Given the description of an element on the screen output the (x, y) to click on. 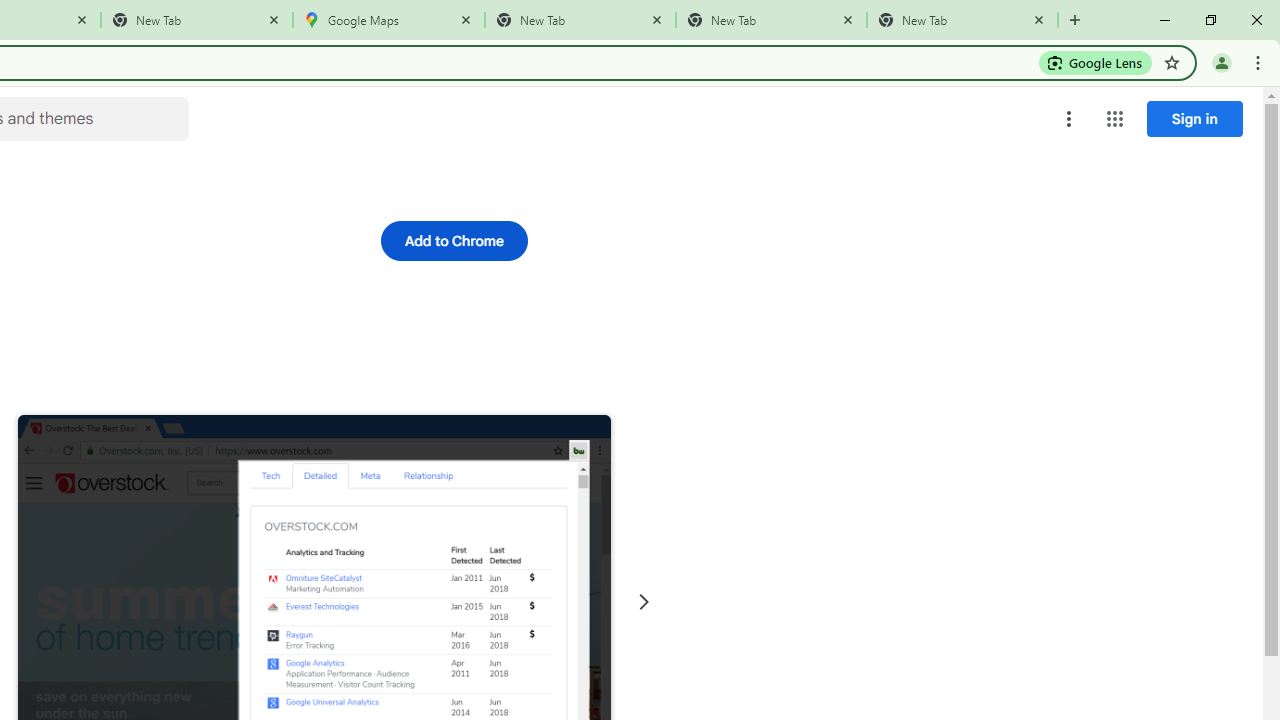
New Tab (580, 20)
